Given the description of an element on the screen output the (x, y) to click on. 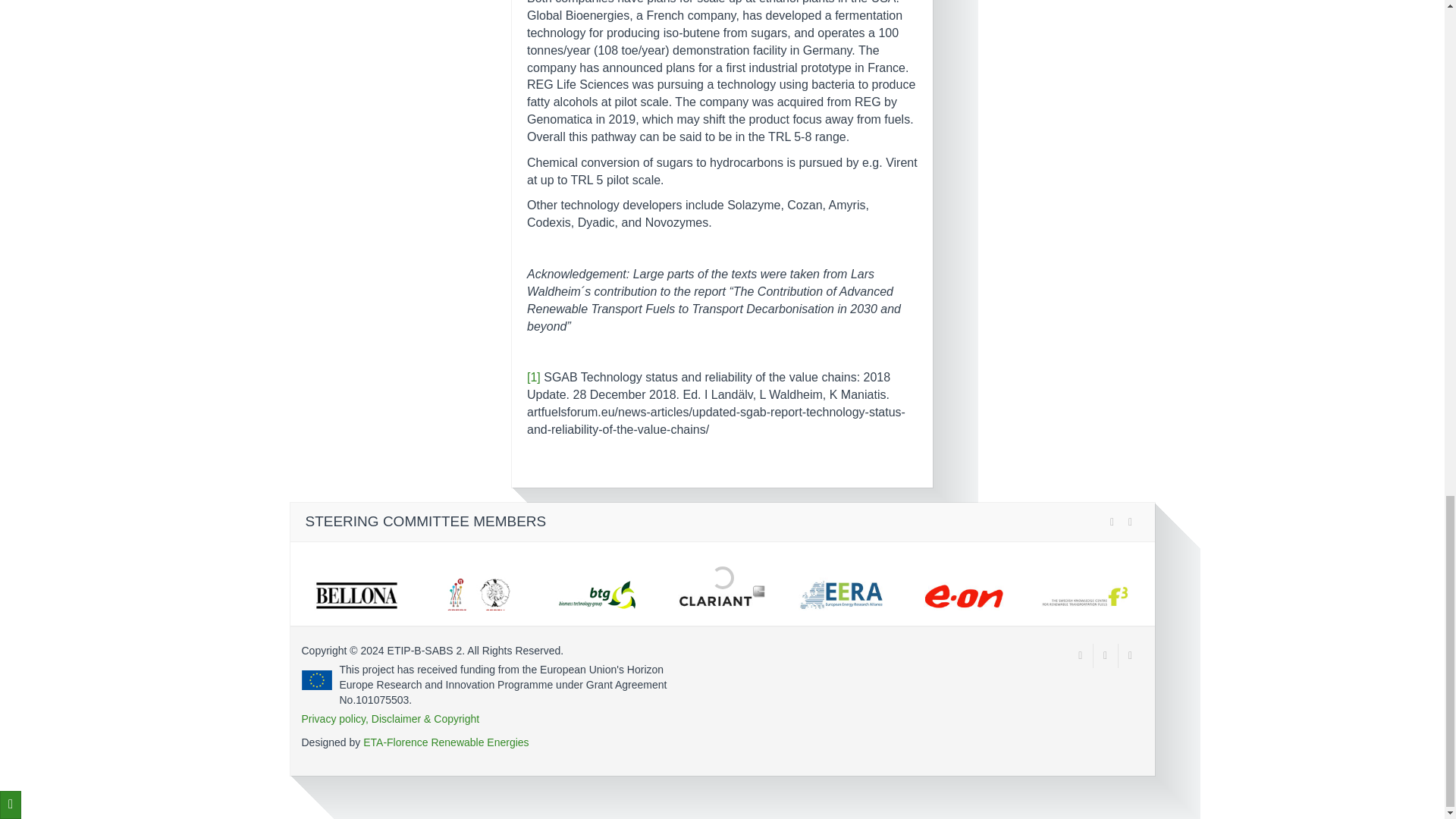
Linkedin (1129, 655)
Twitter (1080, 655)
YouTube (1105, 655)
